Given the description of an element on the screen output the (x, y) to click on. 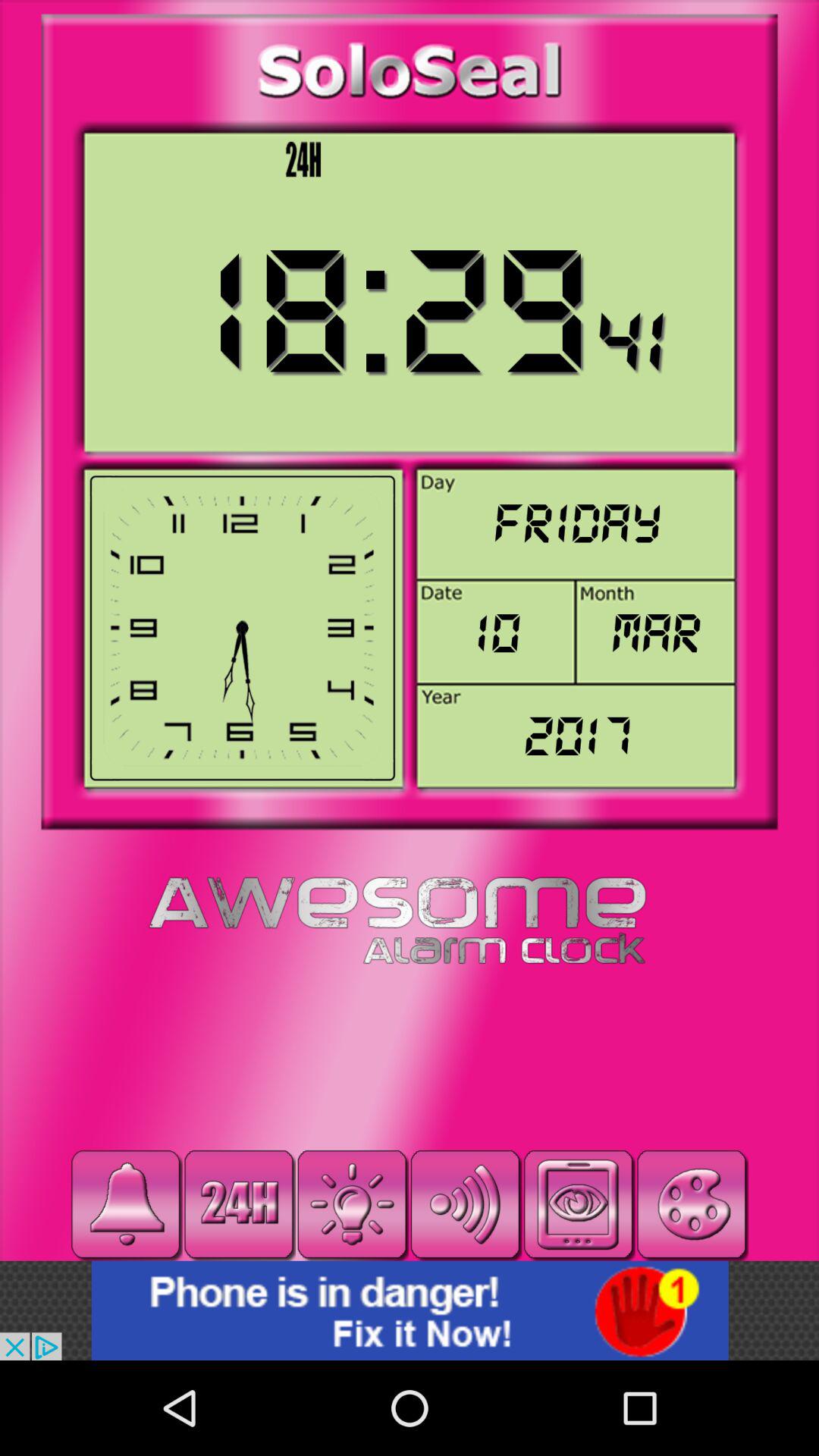
keep screen awake (578, 1203)
